Given the description of an element on the screen output the (x, y) to click on. 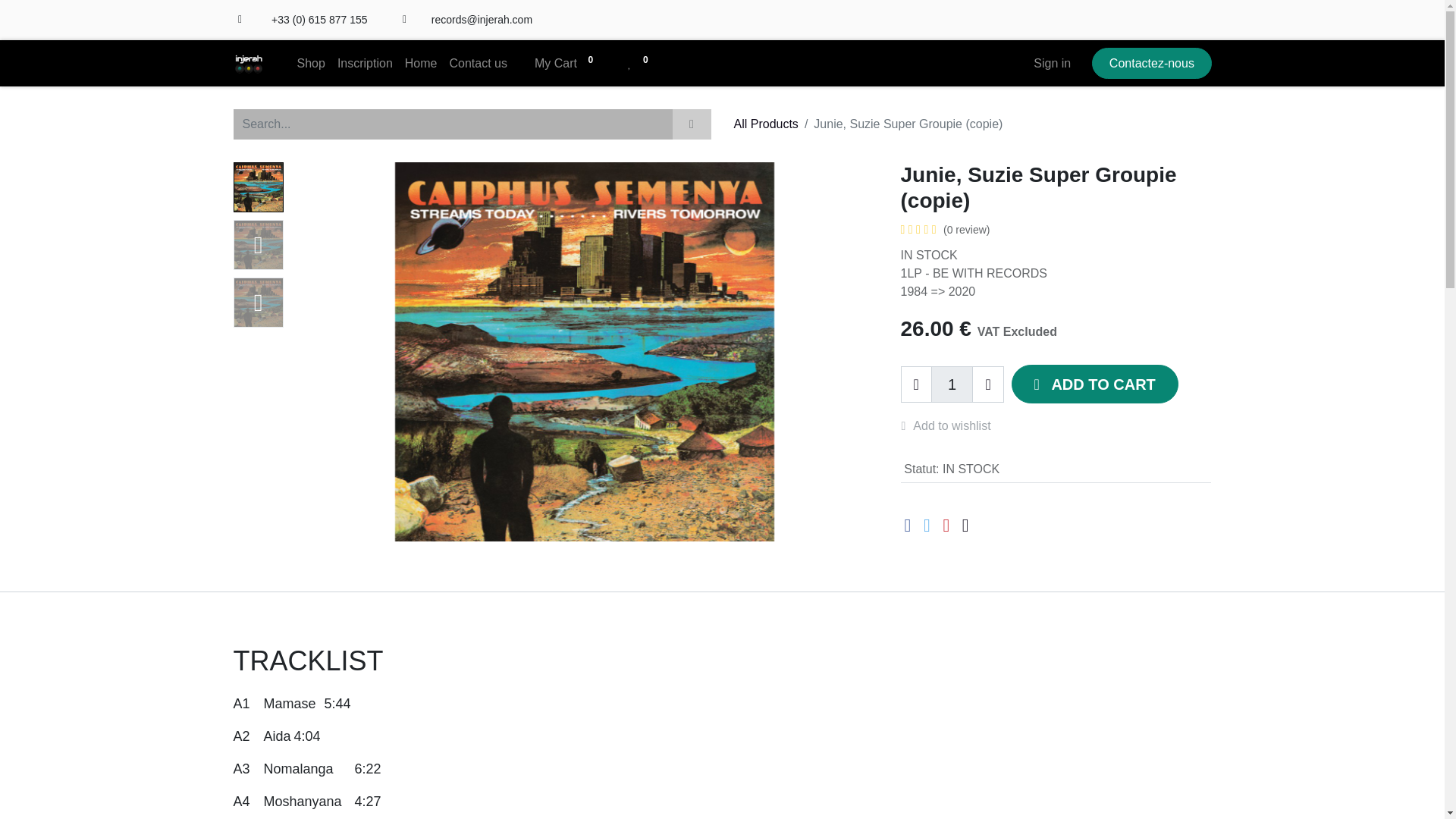
Add to wishlist (954, 426)
0 (641, 63)
Shop (311, 63)
Sign in (1052, 63)
1 (952, 383)
Contact us (477, 63)
Search (690, 123)
Contactez-nous (1151, 62)
ADD TO CART (1094, 383)
INJERAH (247, 63)
My Cart 0 (567, 63)
All Products (765, 123)
Add to wishlist (954, 426)
Inscription (364, 63)
Home (421, 63)
